Given the description of an element on the screen output the (x, y) to click on. 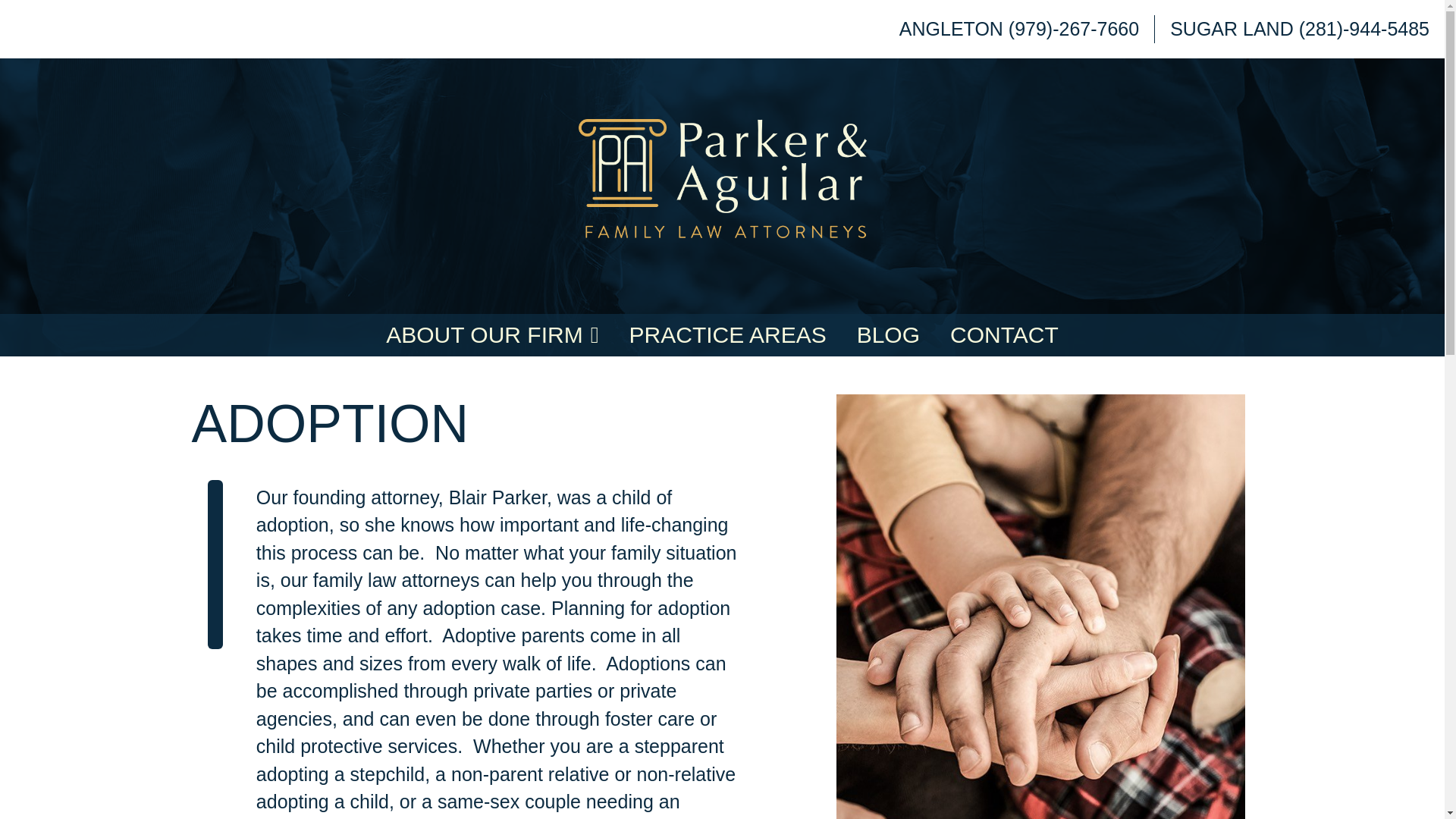
BLOG (887, 334)
CONTACT (1004, 334)
PRACTICE AREAS (727, 334)
ABOUT OUR FIRM (491, 334)
